Given the description of an element on the screen output the (x, y) to click on. 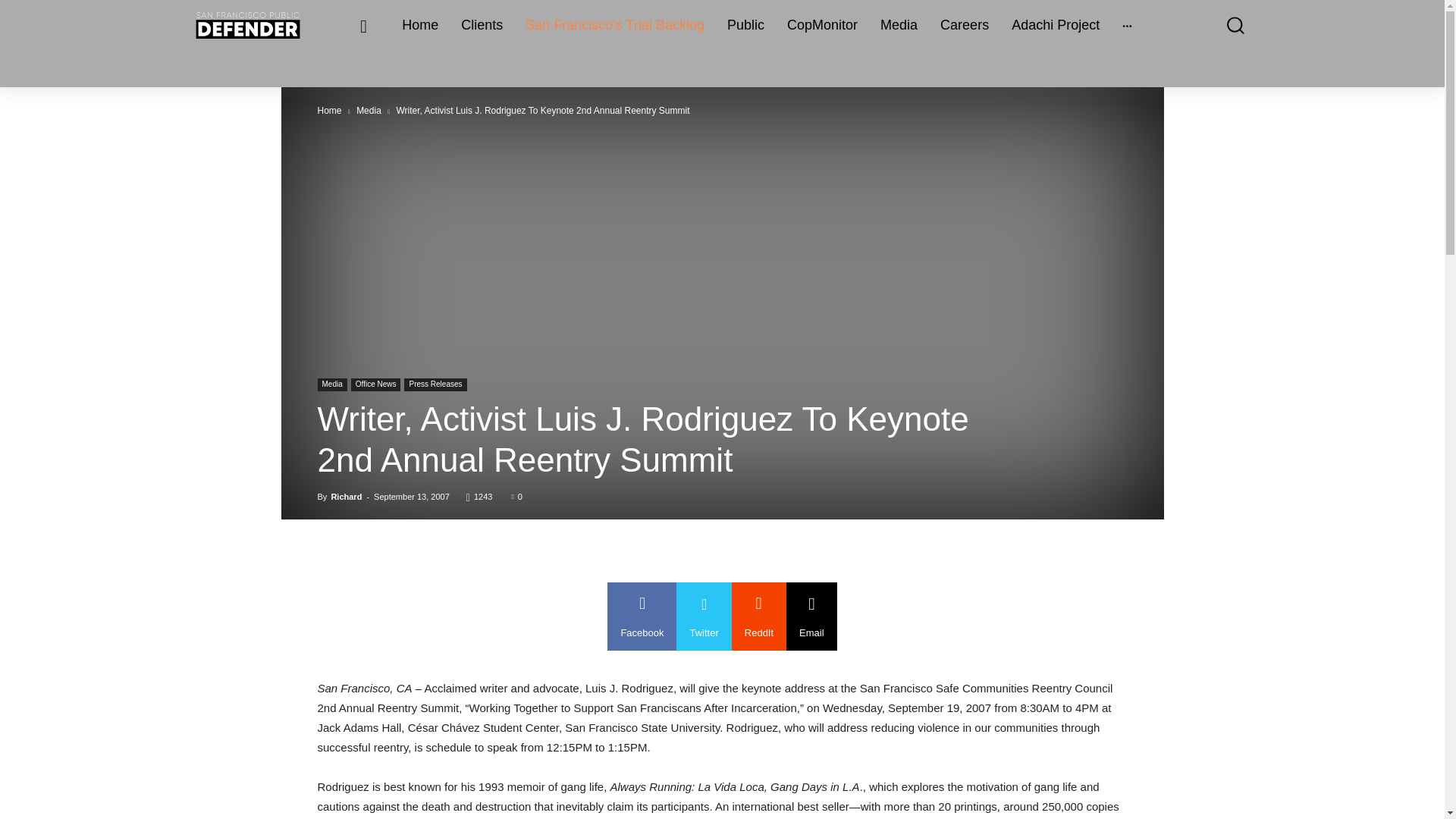
Richard (345, 496)
Facebook (642, 616)
Home (419, 25)
0 (516, 496)
Media (331, 384)
Press Releases (434, 384)
Clients (481, 25)
Public (745, 25)
Facebook (642, 616)
Media (368, 110)
Office News (375, 384)
View all posts in Media (368, 110)
Careers (964, 25)
highlight (614, 25)
Media (898, 25)
